Given the description of an element on the screen output the (x, y) to click on. 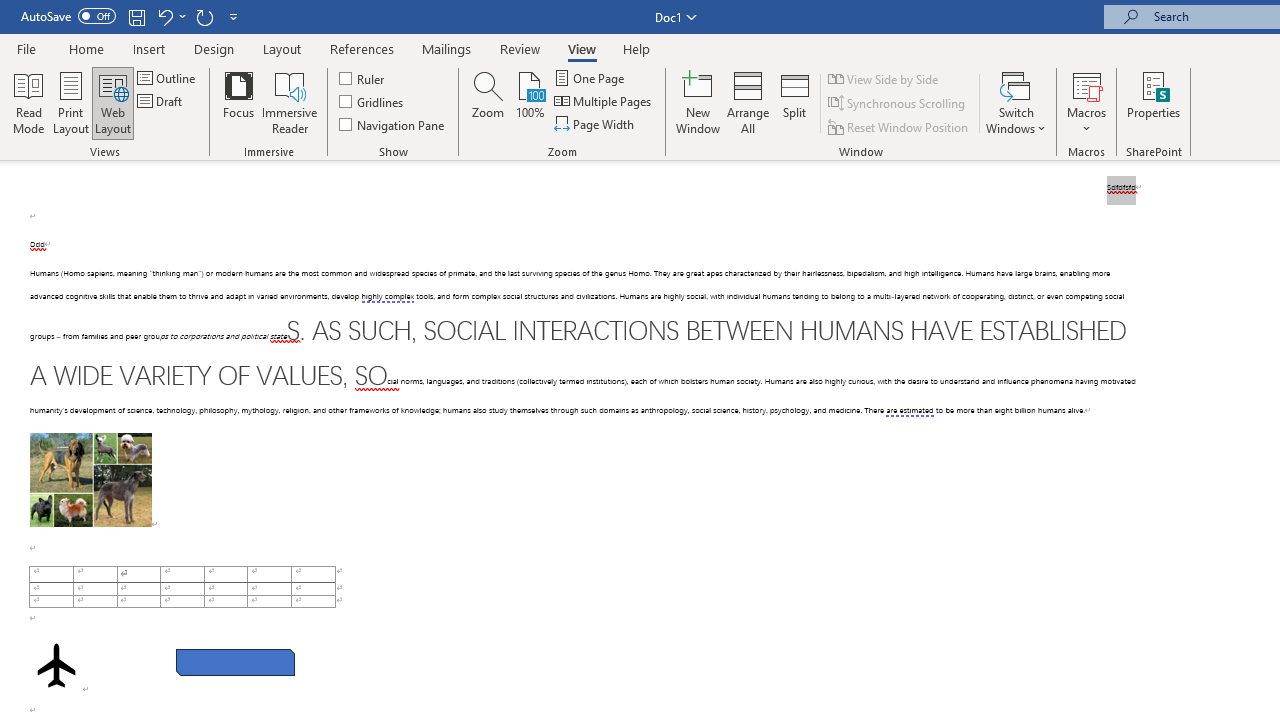
New Window (698, 102)
Morphological variation in six dogs (90, 479)
View Macros (1086, 84)
Immersive Reader (289, 102)
Multiple Pages (603, 101)
Undo Paragraph Alignment (164, 15)
Undo Paragraph Alignment (170, 15)
Gridlines (372, 101)
Reset Window Position (900, 126)
Focus (238, 102)
